Given the description of an element on the screen output the (x, y) to click on. 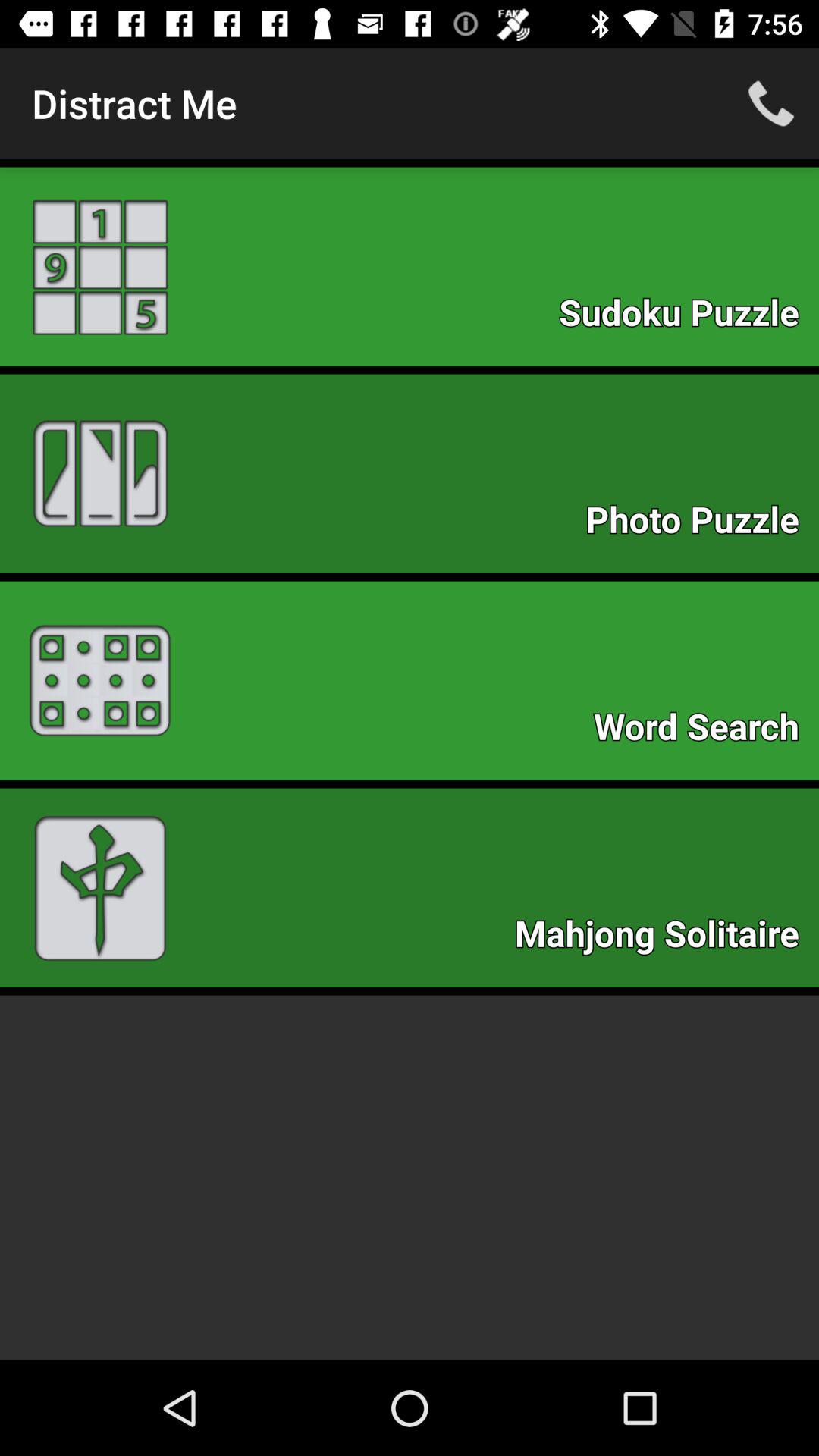
choose word search item (704, 730)
